Given the description of an element on the screen output the (x, y) to click on. 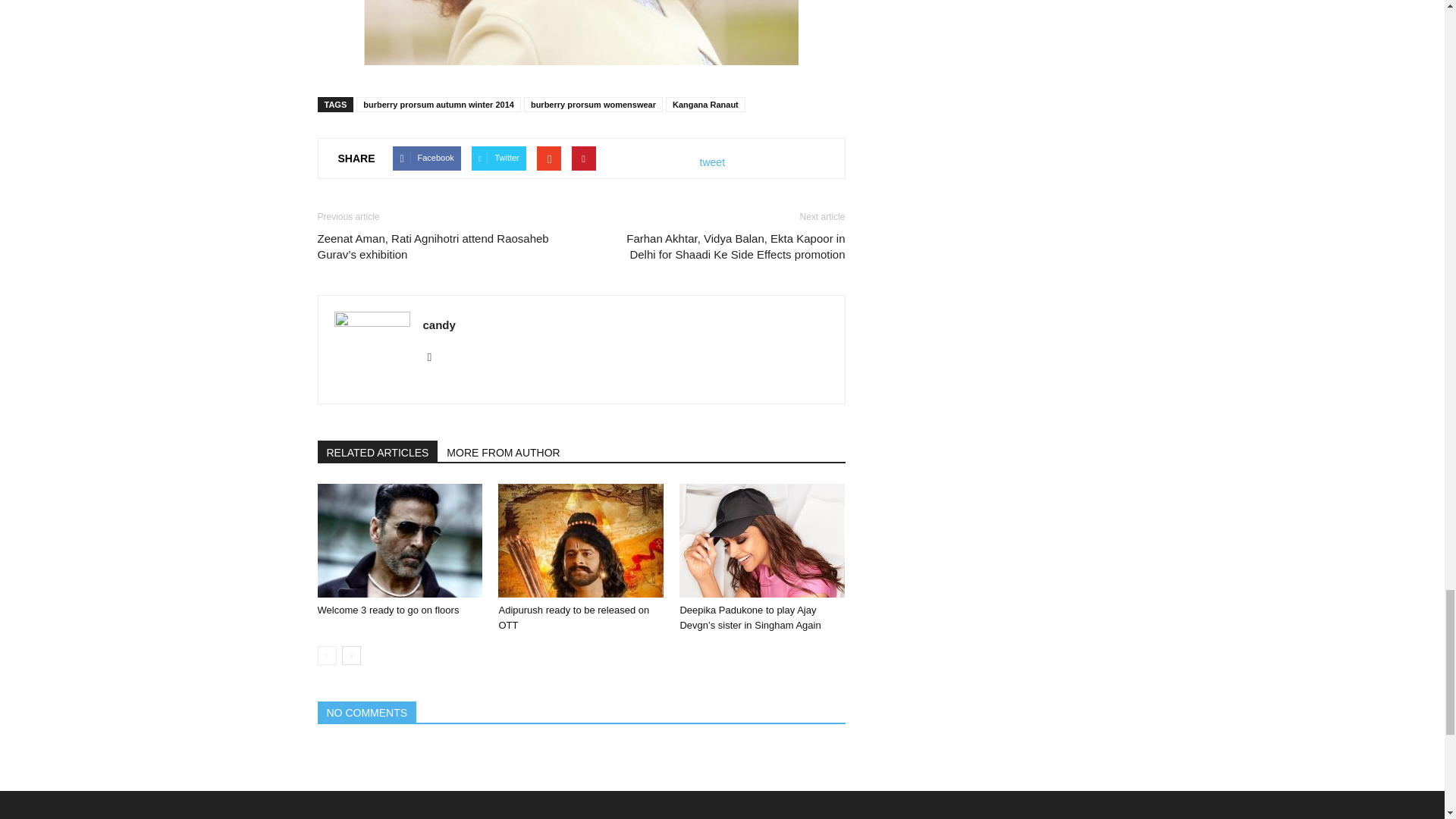
Welcome 3 ready to go on floors (399, 540)
Adipurush ready to be released on OTT (580, 540)
Youtube (435, 356)
Welcome 3 ready to go on floors (387, 609)
Adipurush ready to be released on OTT (573, 617)
